Given the description of an element on the screen output the (x, y) to click on. 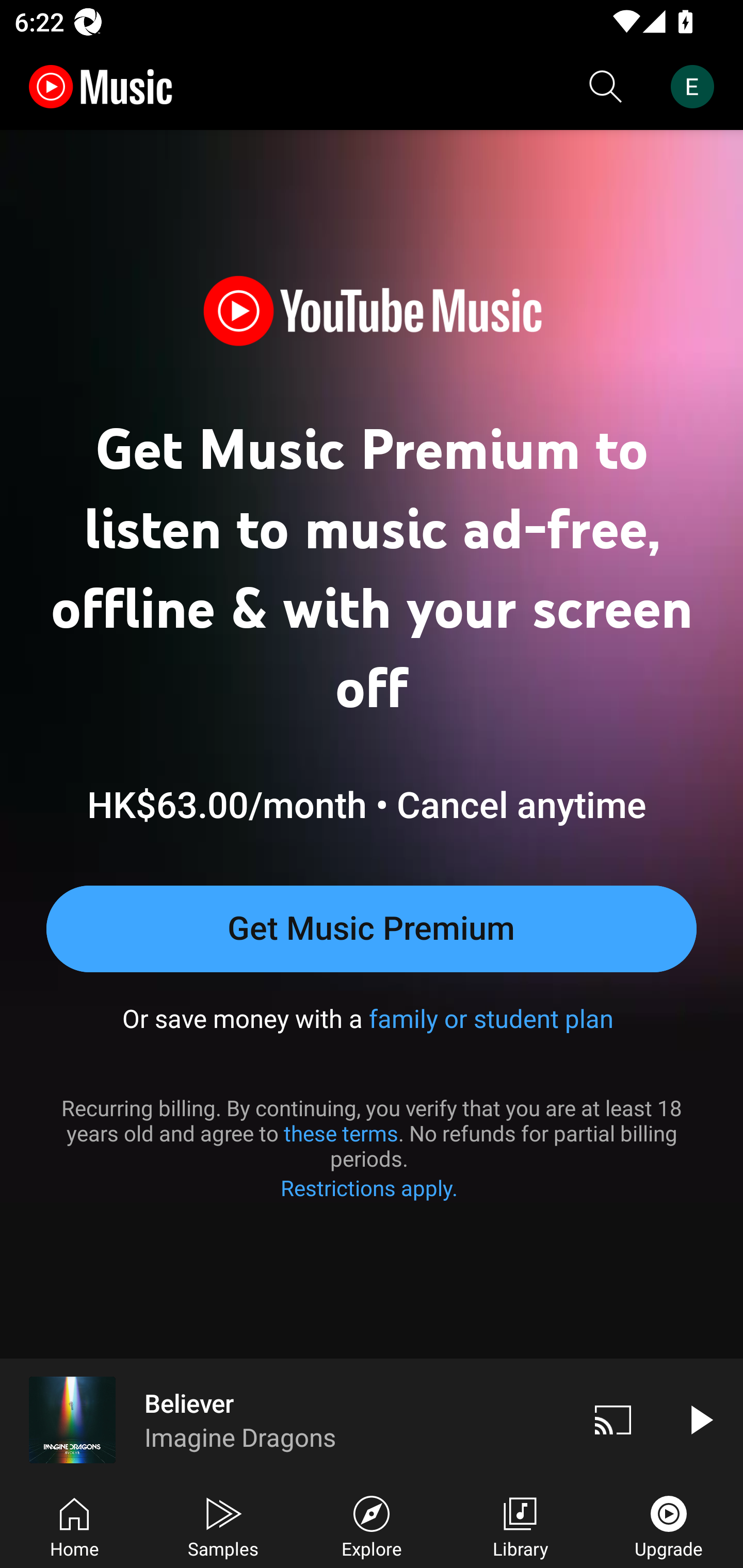
Search (605, 86)
Account (696, 86)
Get Music Premium (371, 928)
Believer Imagine Dragons (284, 1419)
Cast. Disconnected (612, 1419)
Play video (699, 1419)
Home (74, 1524)
Samples (222, 1524)
Explore (371, 1524)
Library (519, 1524)
